Given the description of an element on the screen output the (x, y) to click on. 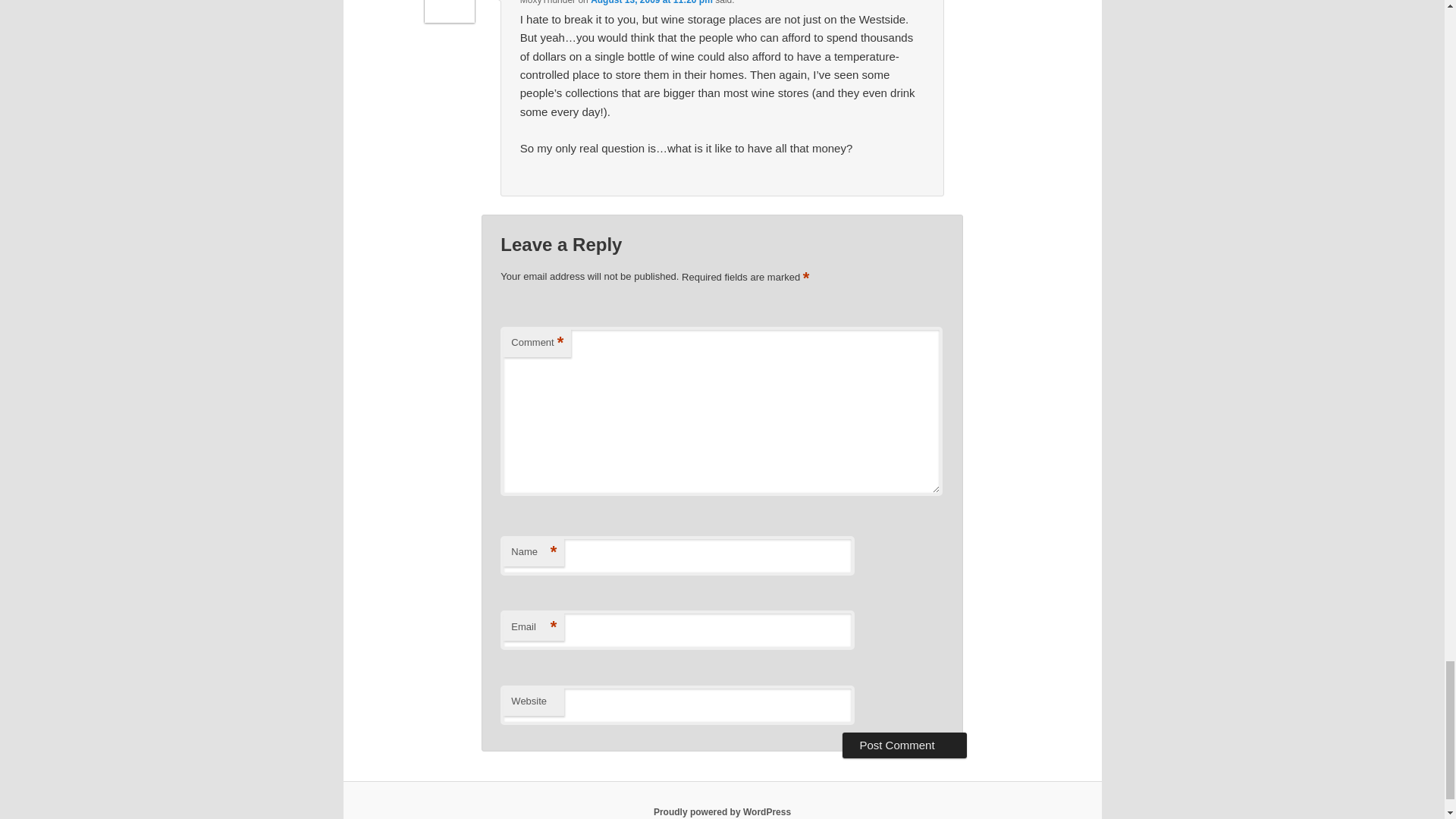
Post Comment (904, 745)
Post Comment (904, 745)
August 13, 2009 at 11:20 pm (652, 2)
Semantic Personal Publishing Platform (721, 811)
